Given the description of an element on the screen output the (x, y) to click on. 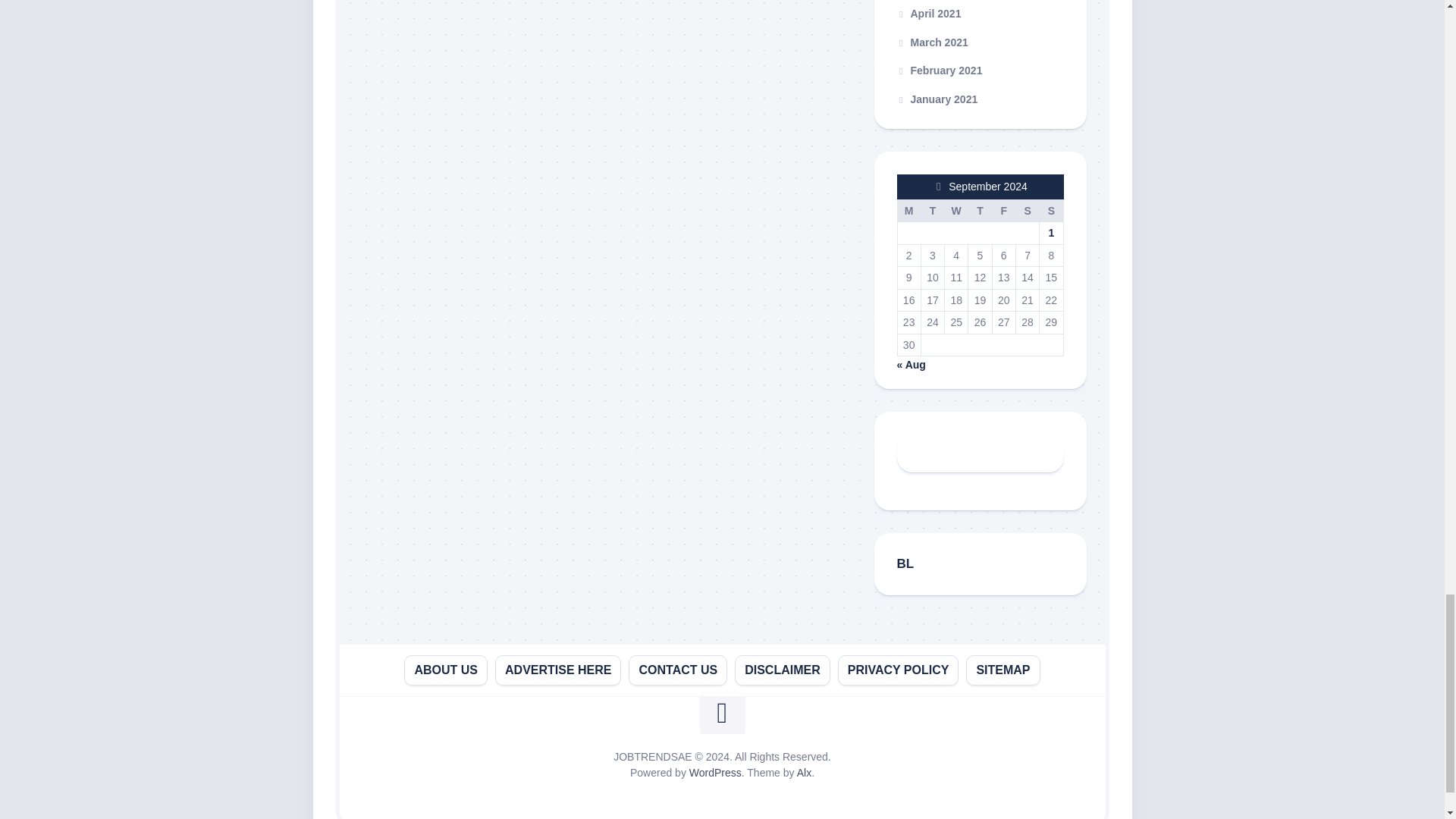
Friday (1002, 210)
Monday (908, 210)
Thursday (979, 210)
Tuesday (931, 210)
Wednesday (956, 210)
Saturday (1026, 210)
Sunday (1050, 210)
